Given the description of an element on the screen output the (x, y) to click on. 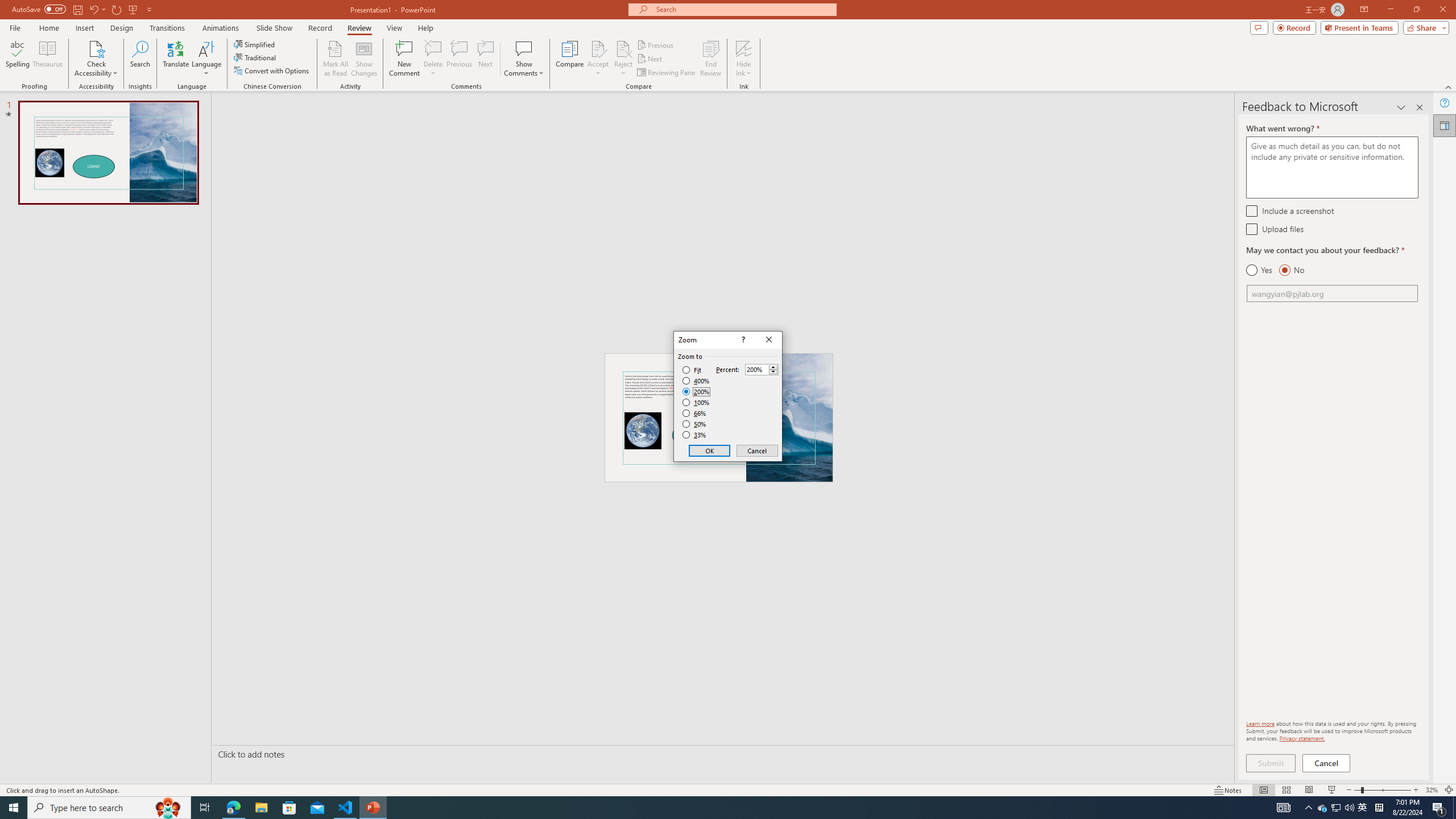
Email (1332, 293)
Feedback to Microsoft (1444, 125)
50% (694, 424)
33% (694, 434)
Upload files (1251, 228)
